Given the description of an element on the screen output the (x, y) to click on. 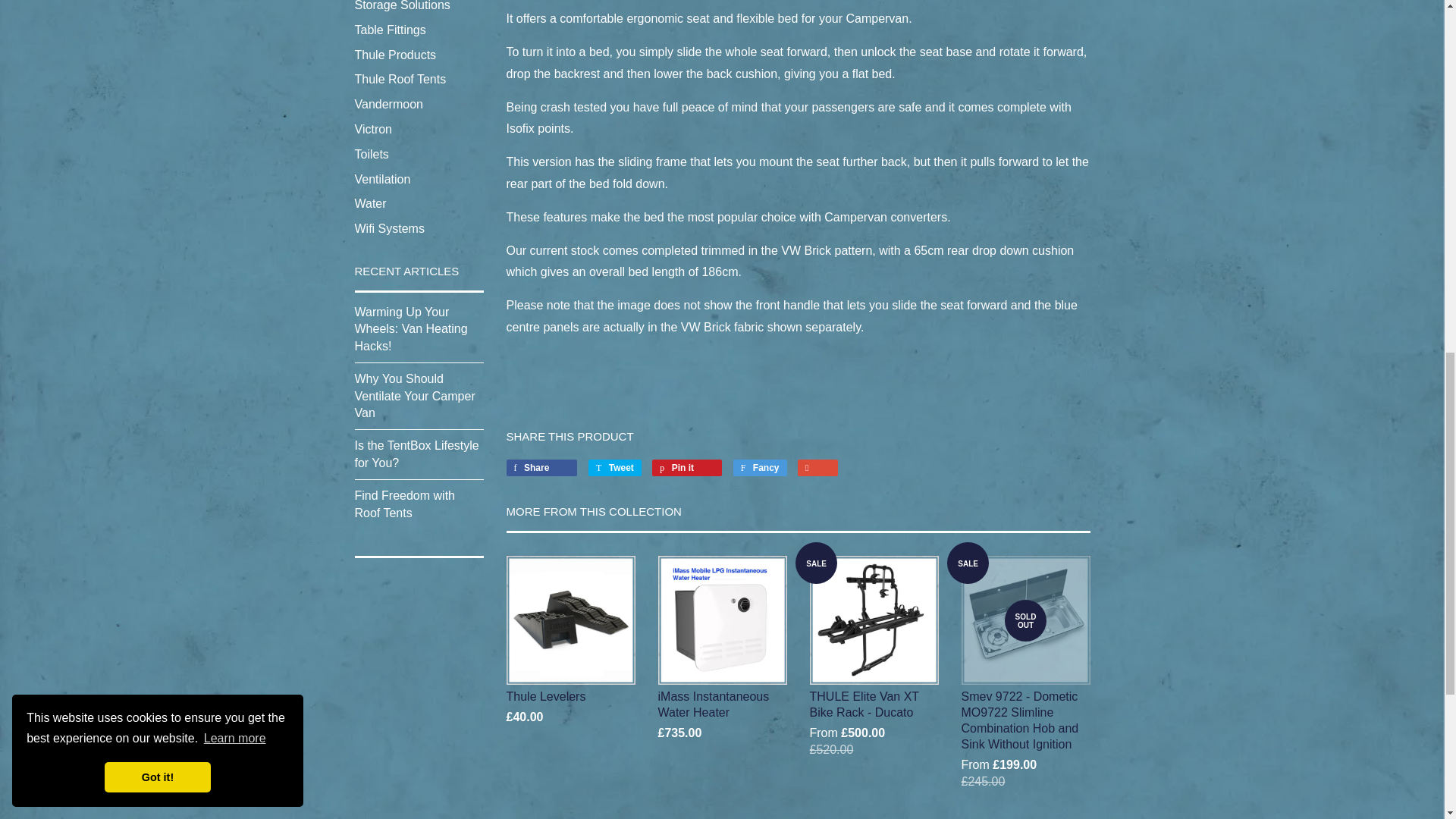
Share on Facebook (542, 467)
Add to Fancy (760, 467)
Tweet on Twitter (615, 467)
Pin on Pinterest (687, 467)
